Given the description of an element on the screen output the (x, y) to click on. 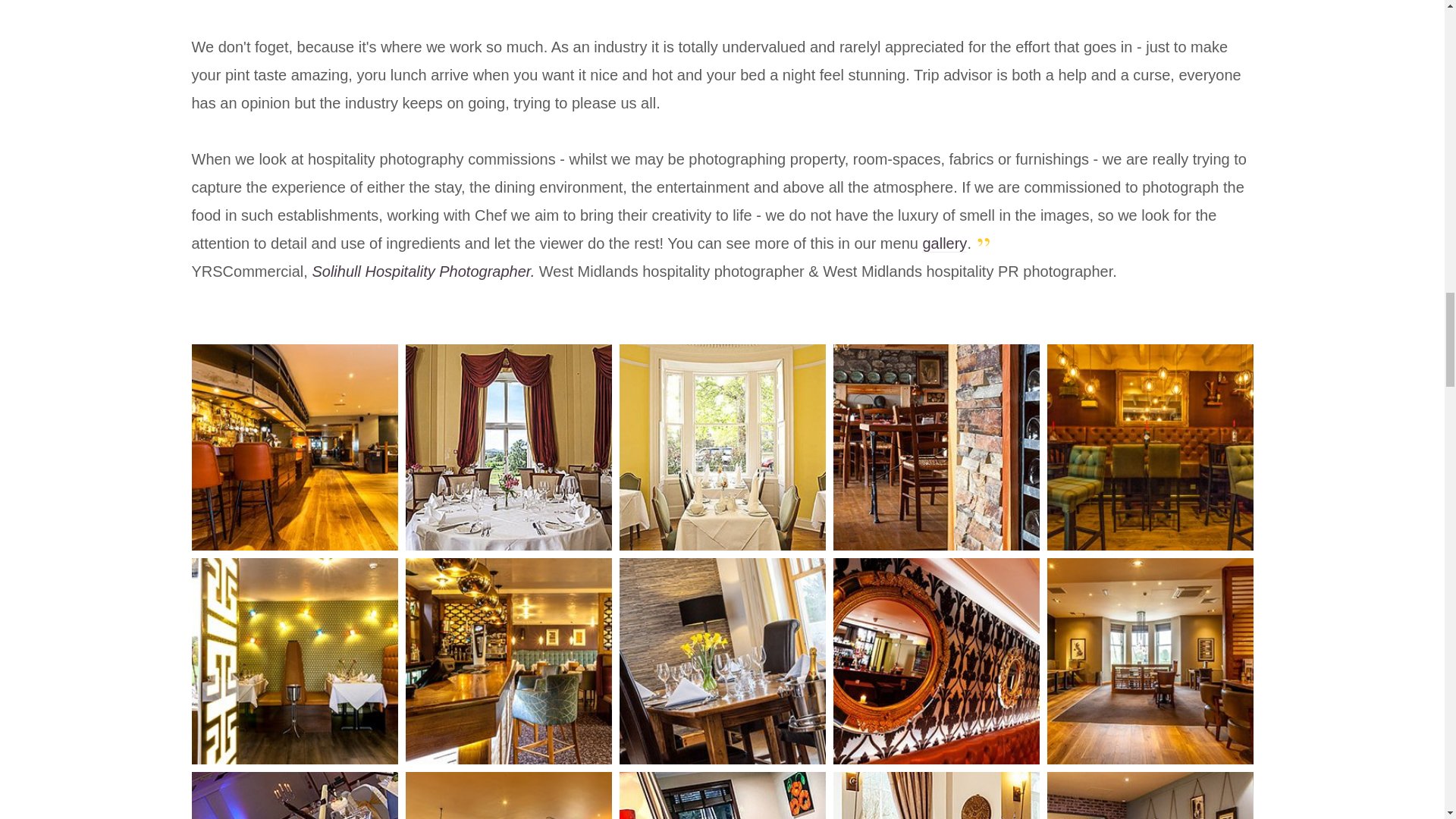
gallery (943, 243)
